Given the description of an element on the screen output the (x, y) to click on. 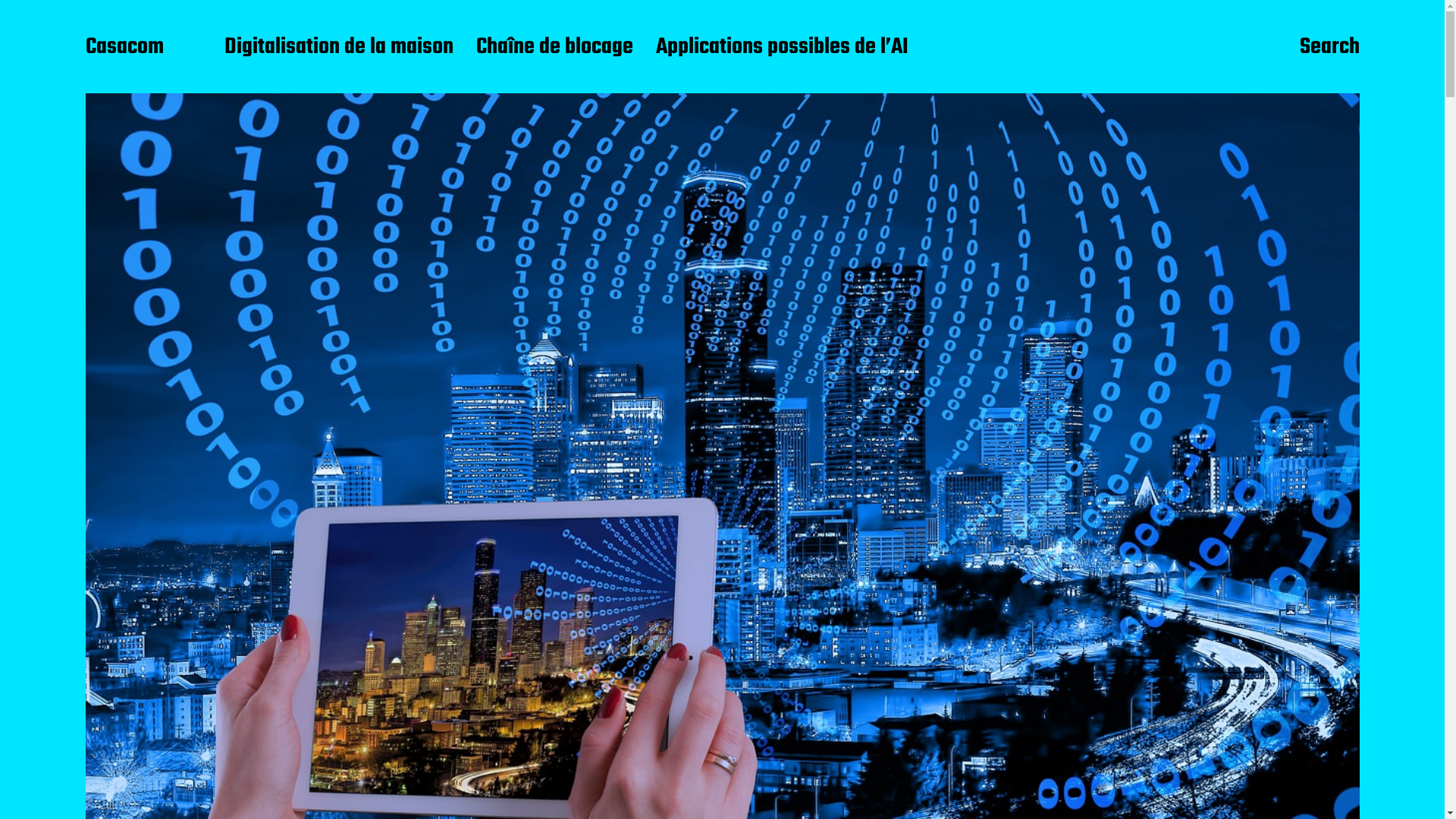
Search Element type: text (1329, 47)
Casacom Element type: text (123, 47)
Digitalisation de la maison Element type: text (338, 47)
